Given the description of an element on the screen output the (x, y) to click on. 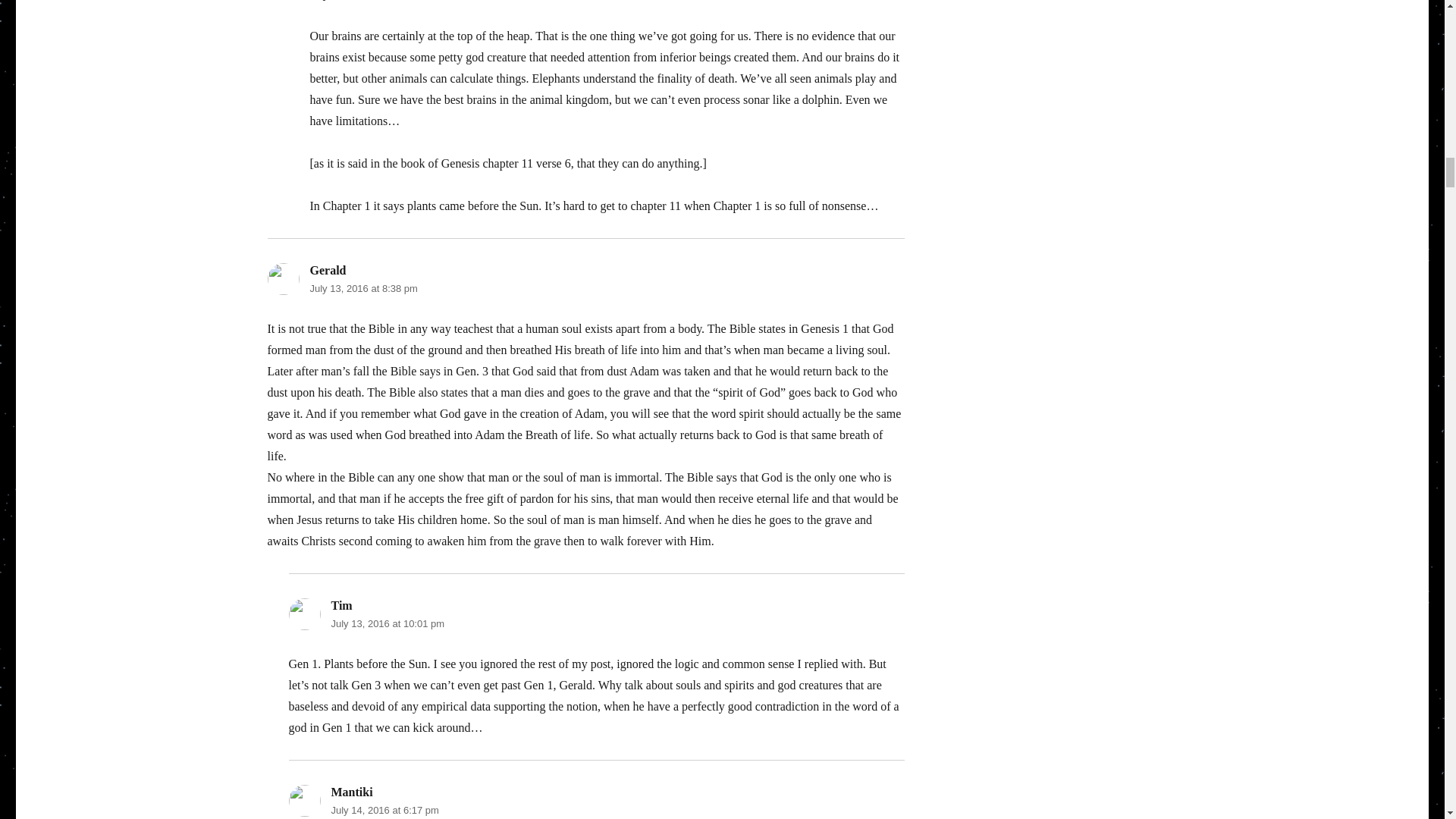
July 13, 2016 at 10:01 pm (387, 623)
July 14, 2016 at 6:17 pm (384, 809)
July 13, 2016 at 8:38 pm (362, 288)
